Given the description of an element on the screen output the (x, y) to click on. 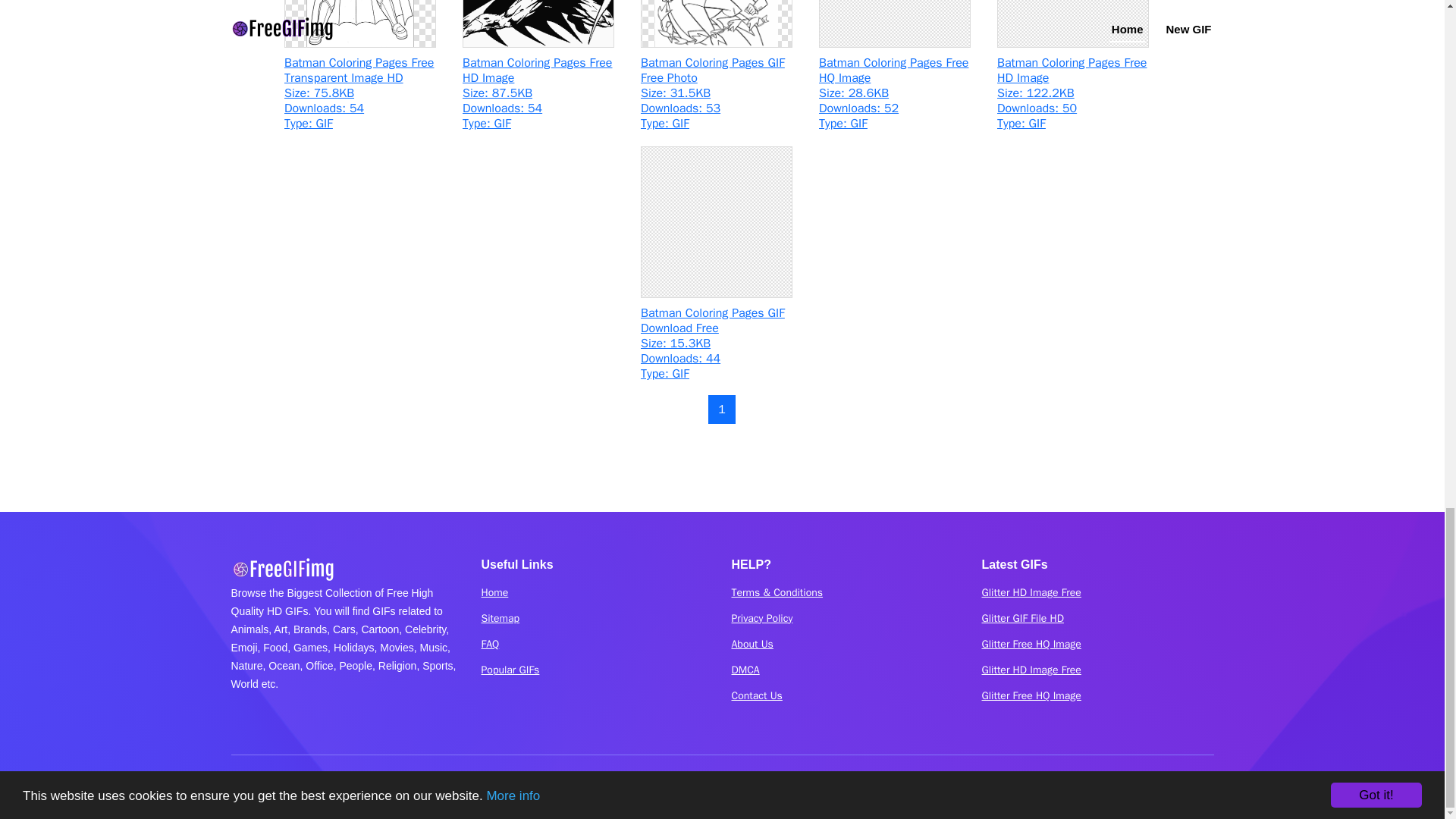
Sitemap (499, 618)
1 (721, 409)
Popular GIFs (509, 670)
FAQ (489, 644)
Home (494, 593)
